Given the description of an element on the screen output the (x, y) to click on. 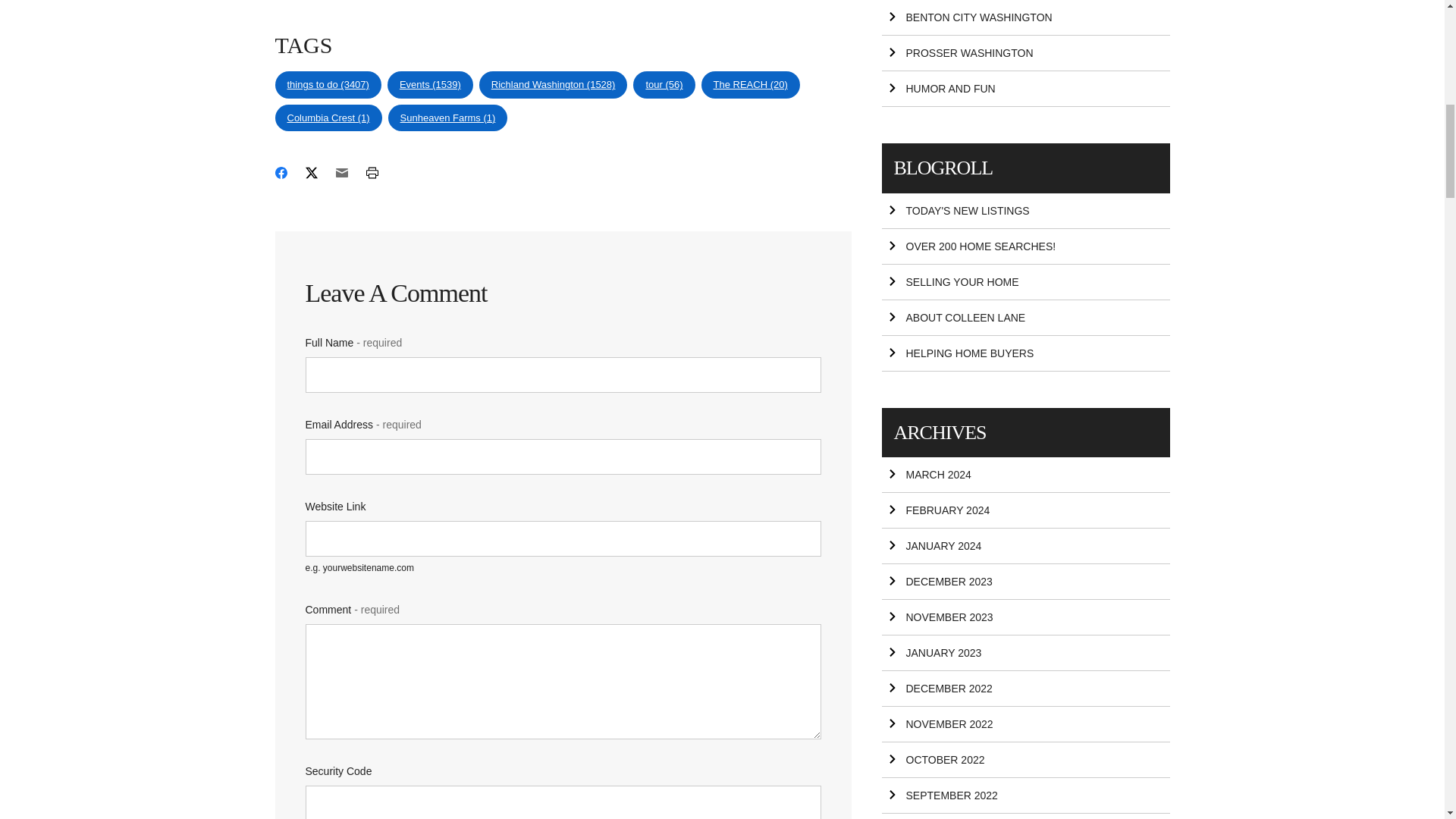
Events (430, 84)
tour (663, 84)
The REACH (750, 84)
things to do (327, 84)
Columbia Crest (328, 117)
Sunheaven Farms (448, 117)
Richland Washington (553, 84)
